Given the description of an element on the screen output the (x, y) to click on. 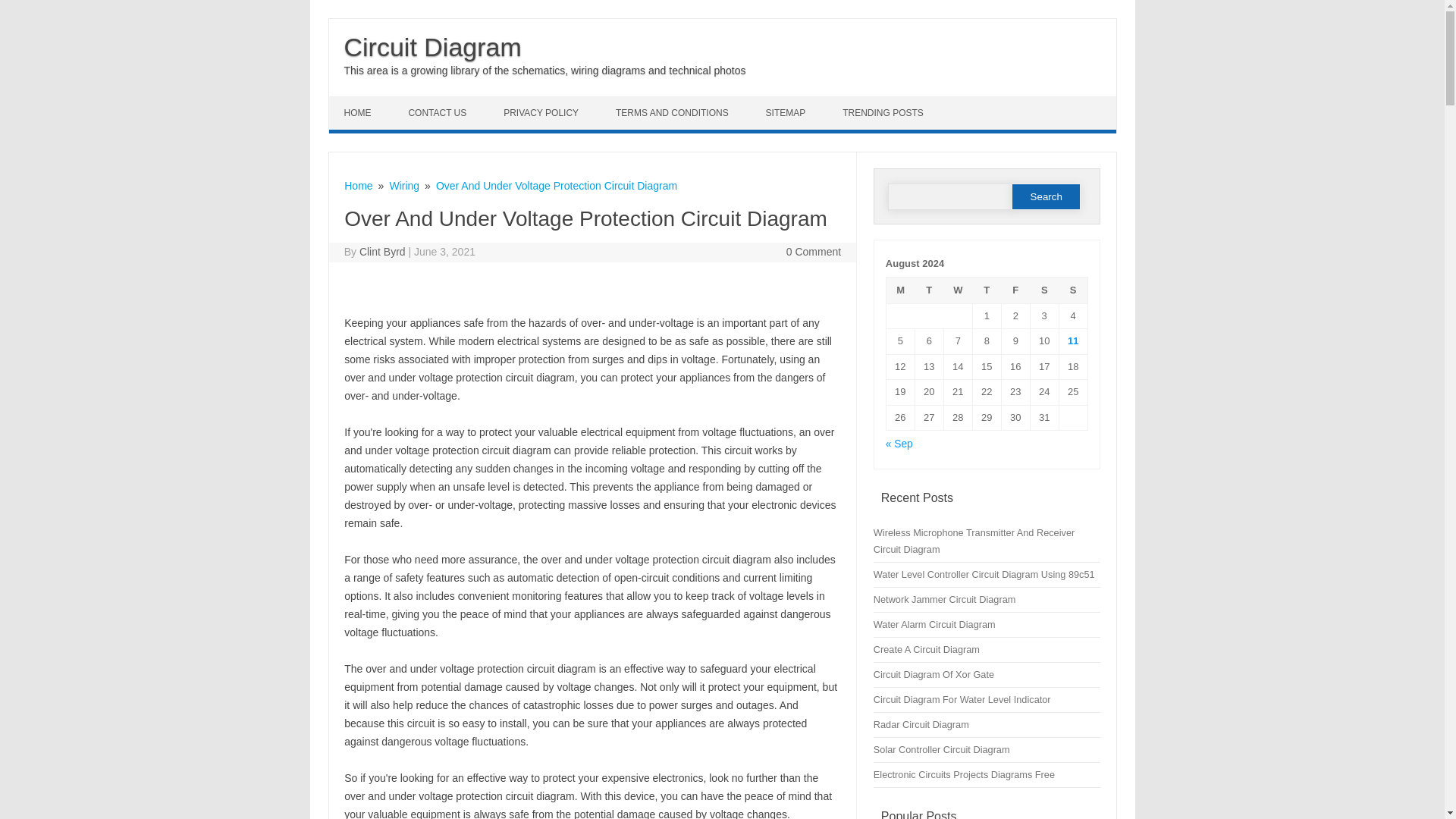
TERMS AND CONDITIONS (673, 112)
Wiring (403, 185)
0 Comment (813, 251)
SITEMAP (788, 112)
Circuit Diagram Of Xor Gate (933, 674)
Search (1045, 196)
Circuit Diagram (432, 46)
Electronic Circuits Projects Diagrams Free (963, 774)
Water Level Controller Circuit Diagram Using 89c51 (983, 573)
Home (357, 185)
